Given the description of an element on the screen output the (x, y) to click on. 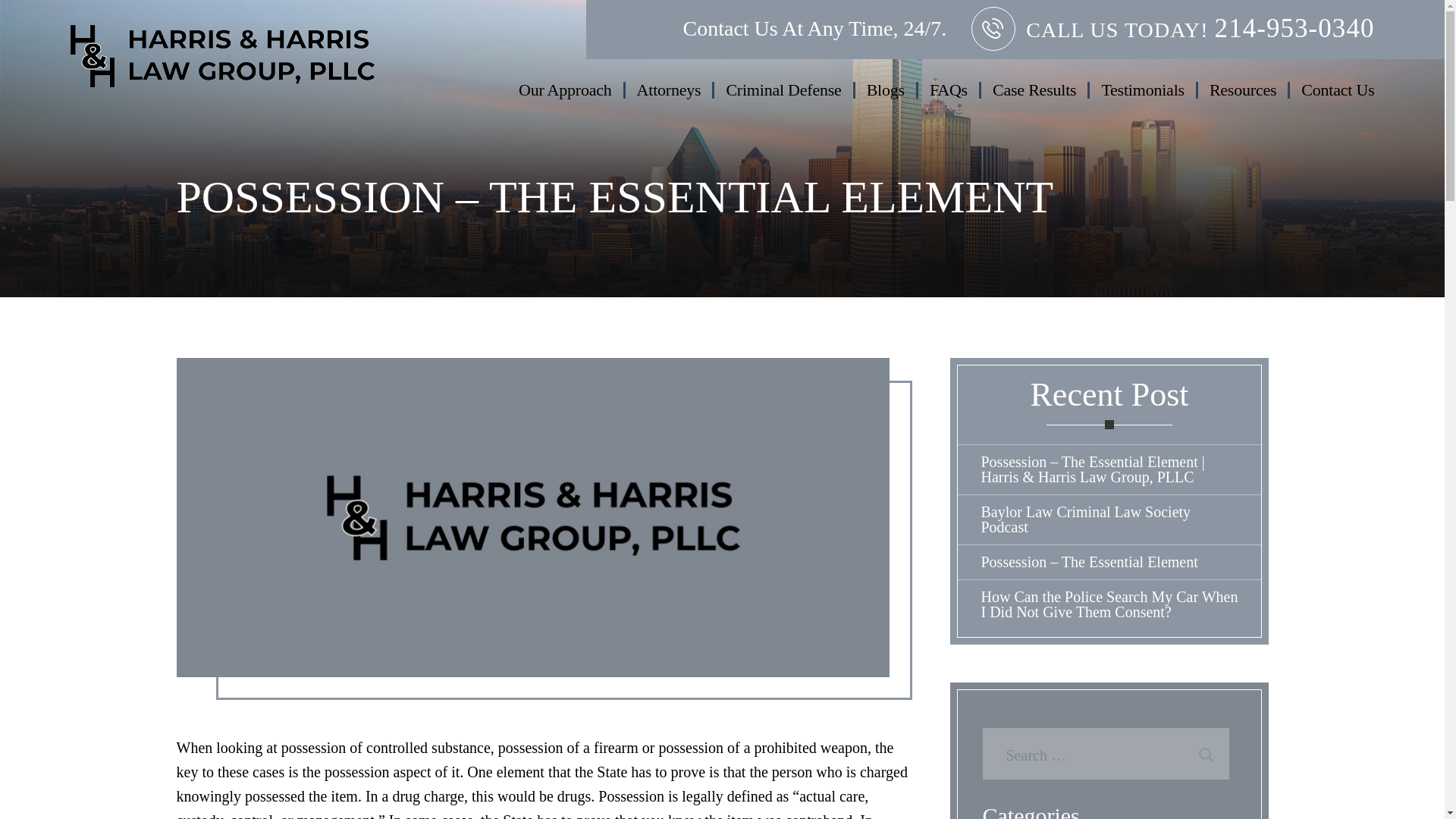
Search (1205, 754)
214-953-0340 (1294, 28)
FAQs (949, 89)
Criminal Defense (784, 89)
Case Results (1035, 89)
Our Approach (566, 89)
Testimonials (1142, 89)
Search (1205, 754)
Blogs (887, 89)
Attorneys (670, 89)
